Given the description of an element on the screen output the (x, y) to click on. 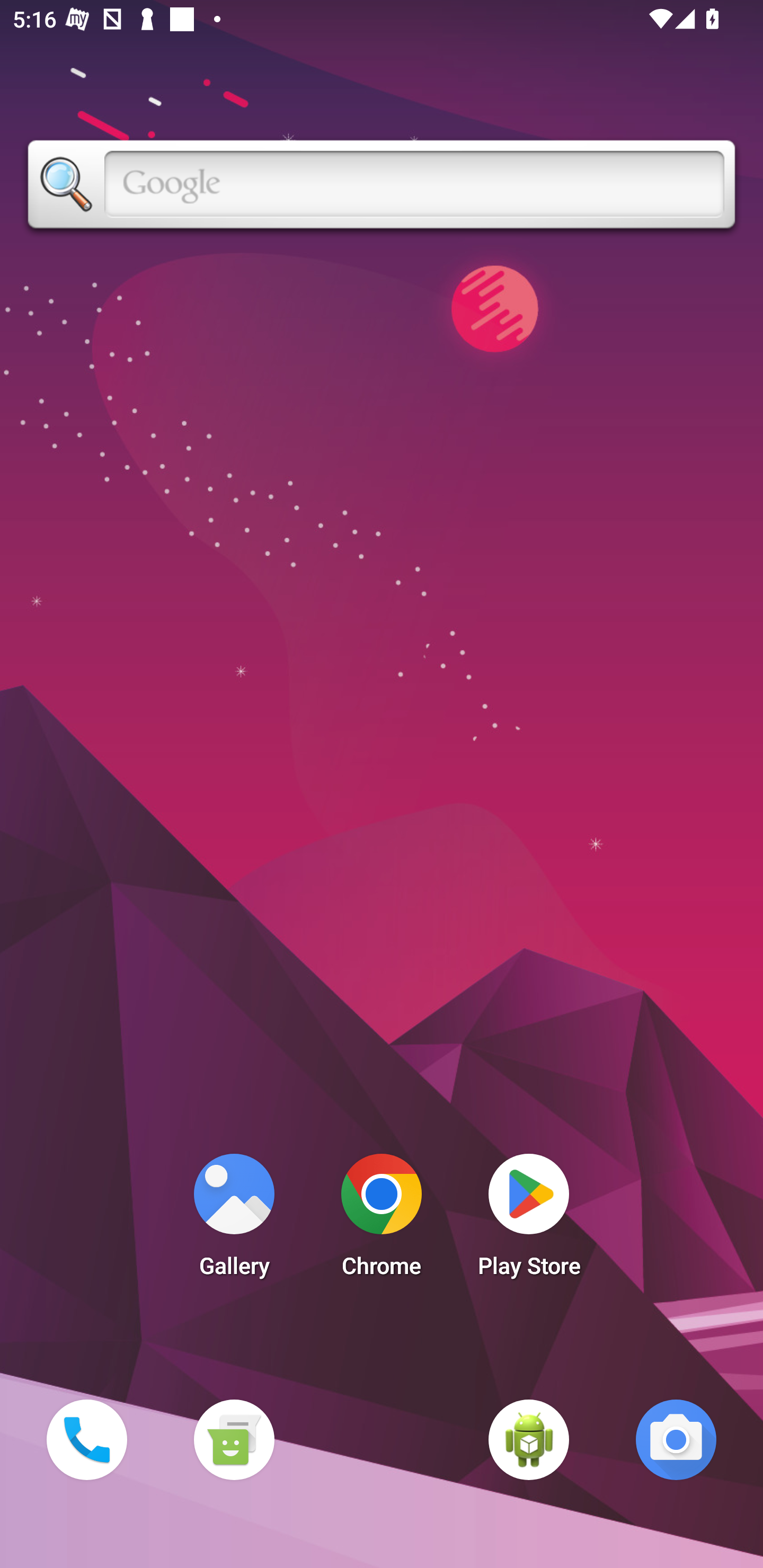
Gallery (233, 1220)
Chrome (381, 1220)
Play Store (528, 1220)
Phone (86, 1439)
Messaging (233, 1439)
WebView Browser Tester (528, 1439)
Camera (676, 1439)
